Given the description of an element on the screen output the (x, y) to click on. 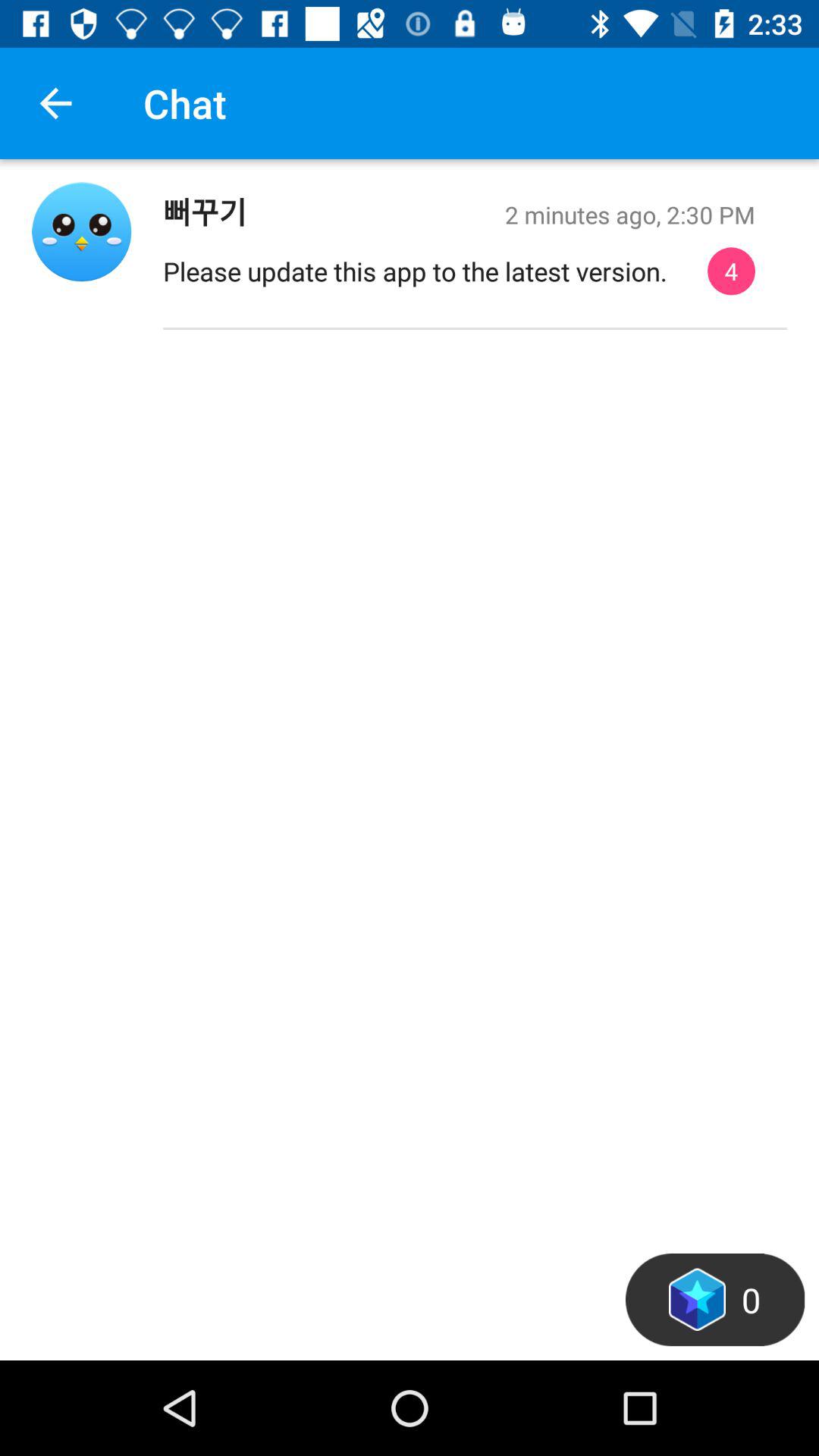
profile (81, 231)
